Given the description of an element on the screen output the (x, y) to click on. 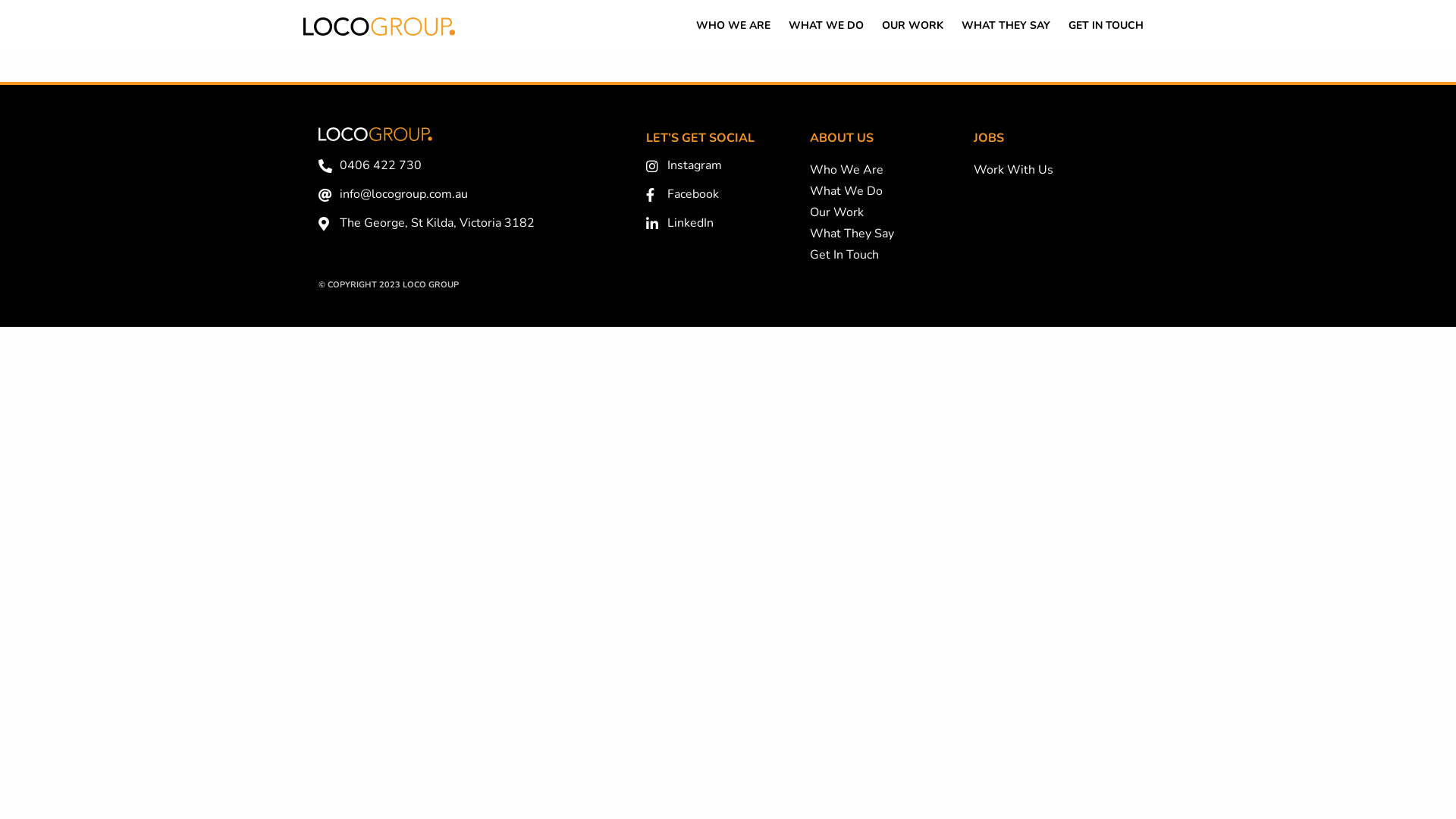
What We Do Element type: text (845, 190)
Who We Are Element type: text (846, 169)
Our Work Element type: text (836, 211)
info@locogroup.com.au Element type: text (474, 194)
GET IN TOUCH Element type: text (1105, 25)
WHAT WE DO Element type: text (825, 25)
Work With Us Element type: text (1013, 169)
Instagram Element type: text (727, 165)
LinkedIn Element type: text (727, 223)
Facebook Element type: text (727, 194)
WHO WE ARE Element type: text (733, 25)
OUR WORK Element type: text (912, 25)
What They Say Element type: text (851, 233)
Get In Touch Element type: text (843, 254)
WHAT THEY SAY Element type: text (1005, 25)
